Given the description of an element on the screen output the (x, y) to click on. 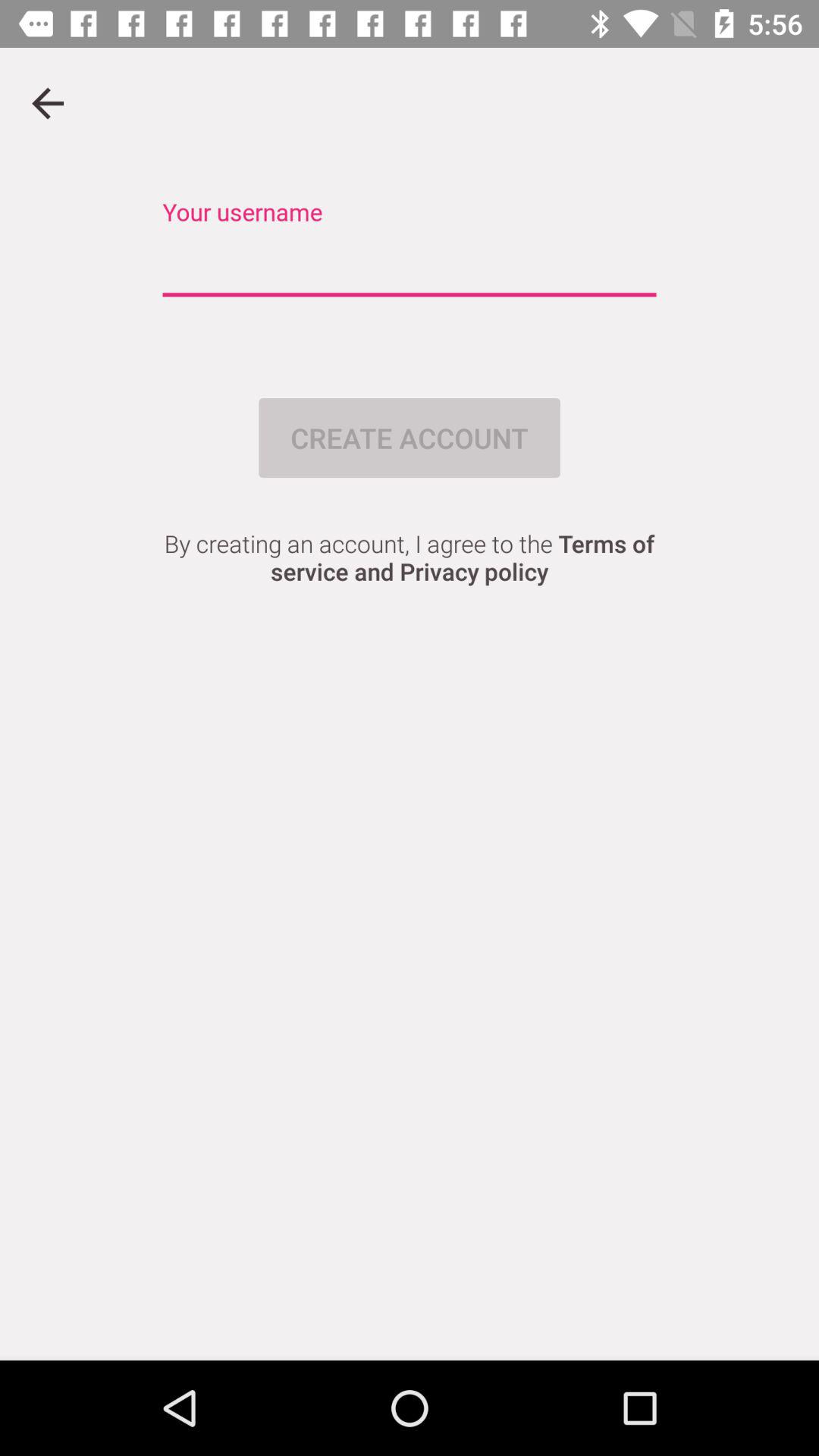
go to previous (47, 103)
